Given the description of an element on the screen output the (x, y) to click on. 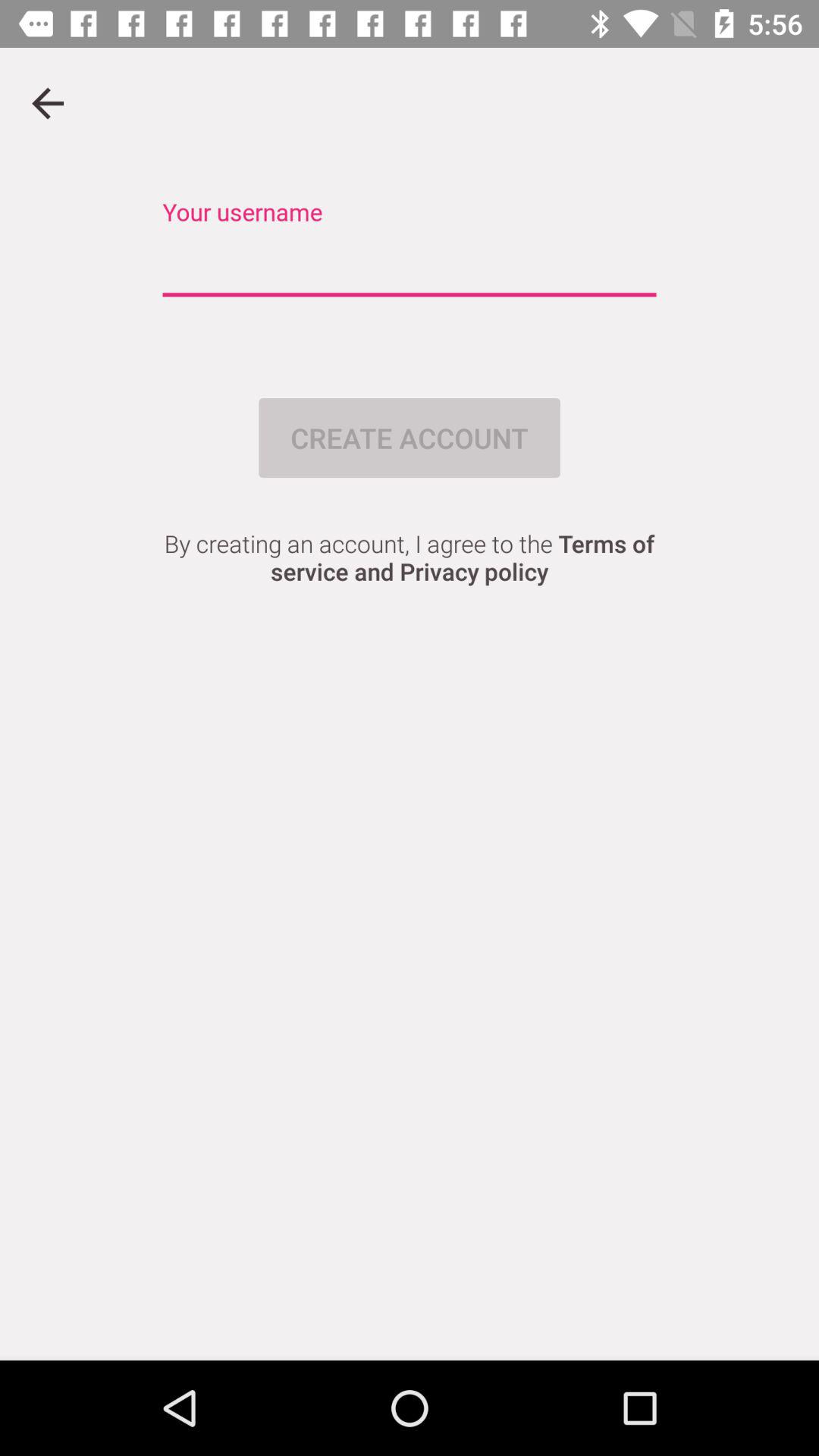
go to previous (47, 103)
